Given the description of an element on the screen output the (x, y) to click on. 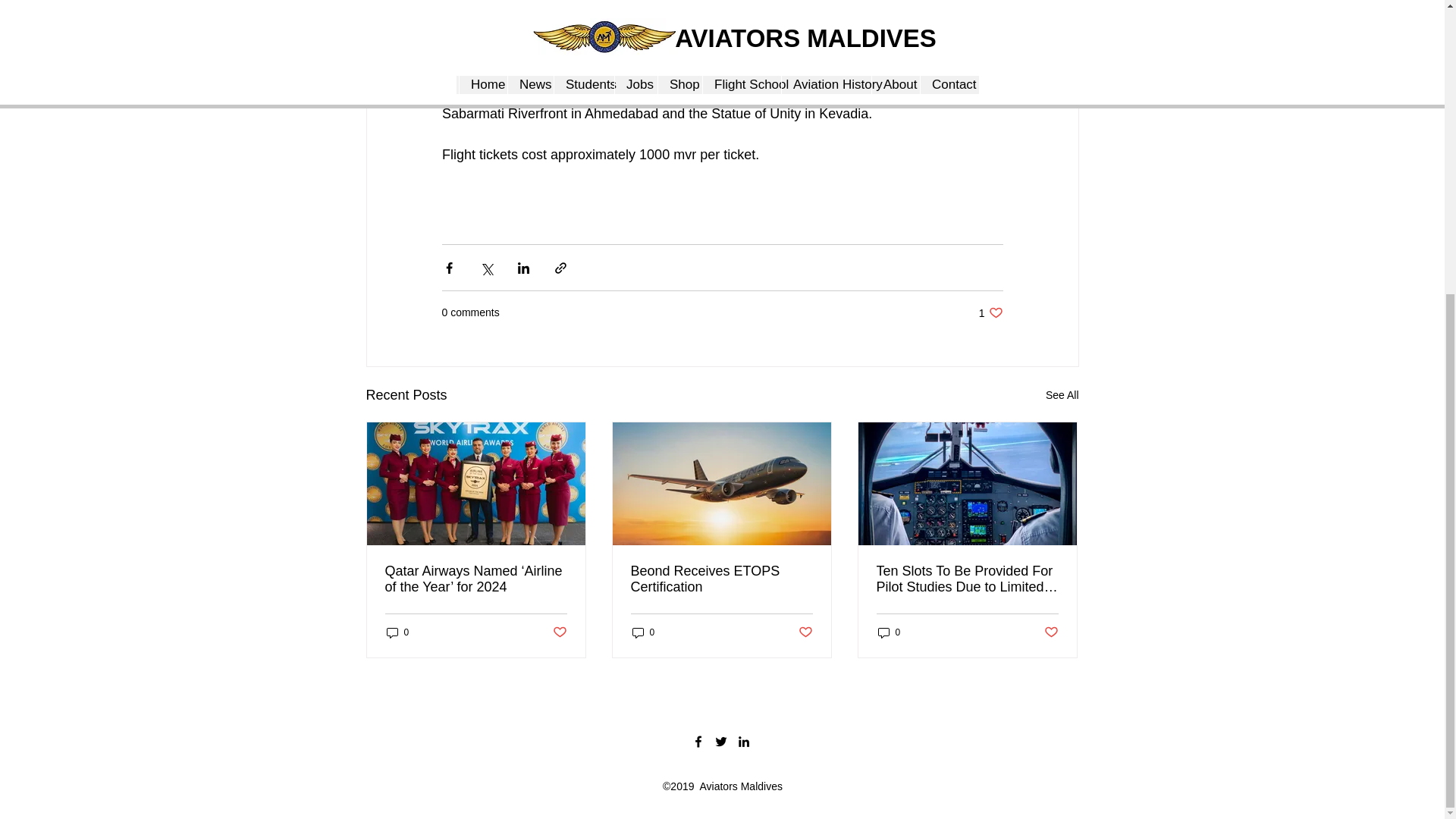
0 (643, 632)
Post not marked as liked (804, 631)
See All (1061, 395)
0 (397, 632)
Post not marked as liked (558, 631)
Beond Receives ETOPS Certification (990, 312)
